Given the description of an element on the screen output the (x, y) to click on. 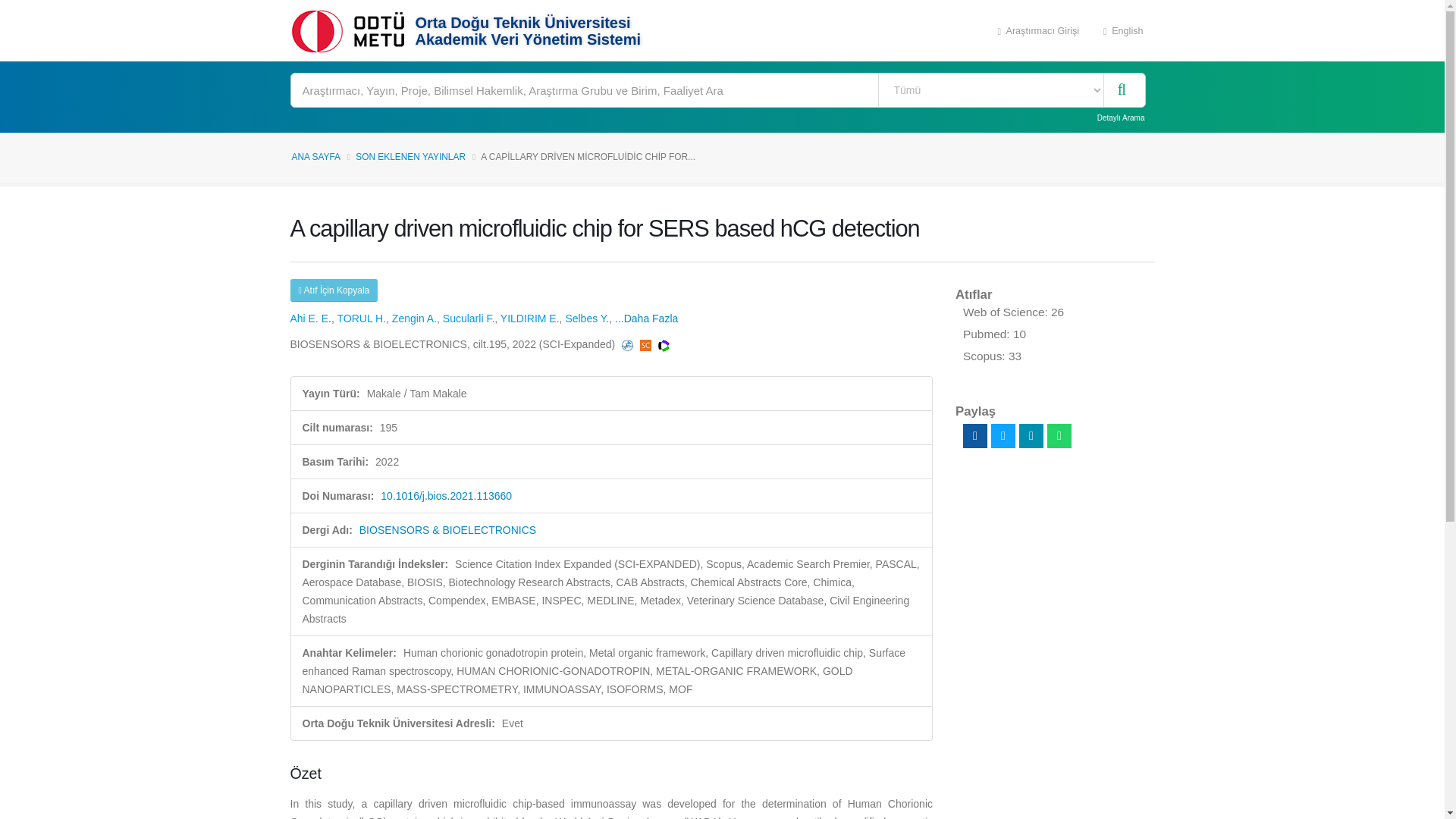
Ahi E. E. (309, 318)
...Daha Fazla (646, 318)
SON EKLENEN YAYINLAR (410, 156)
Yesim Selbes (586, 318)
English (1123, 31)
Selbes Y. (586, 318)
TORUL H. (360, 318)
Zengin A. (413, 318)
Sucularli F. (468, 318)
YILDIRIM E. (529, 318)
Elcin Ezgi Ahi (309, 318)
Ferah Sucularli (468, 318)
ANA SAYFA (315, 156)
